Given the description of an element on the screen output the (x, y) to click on. 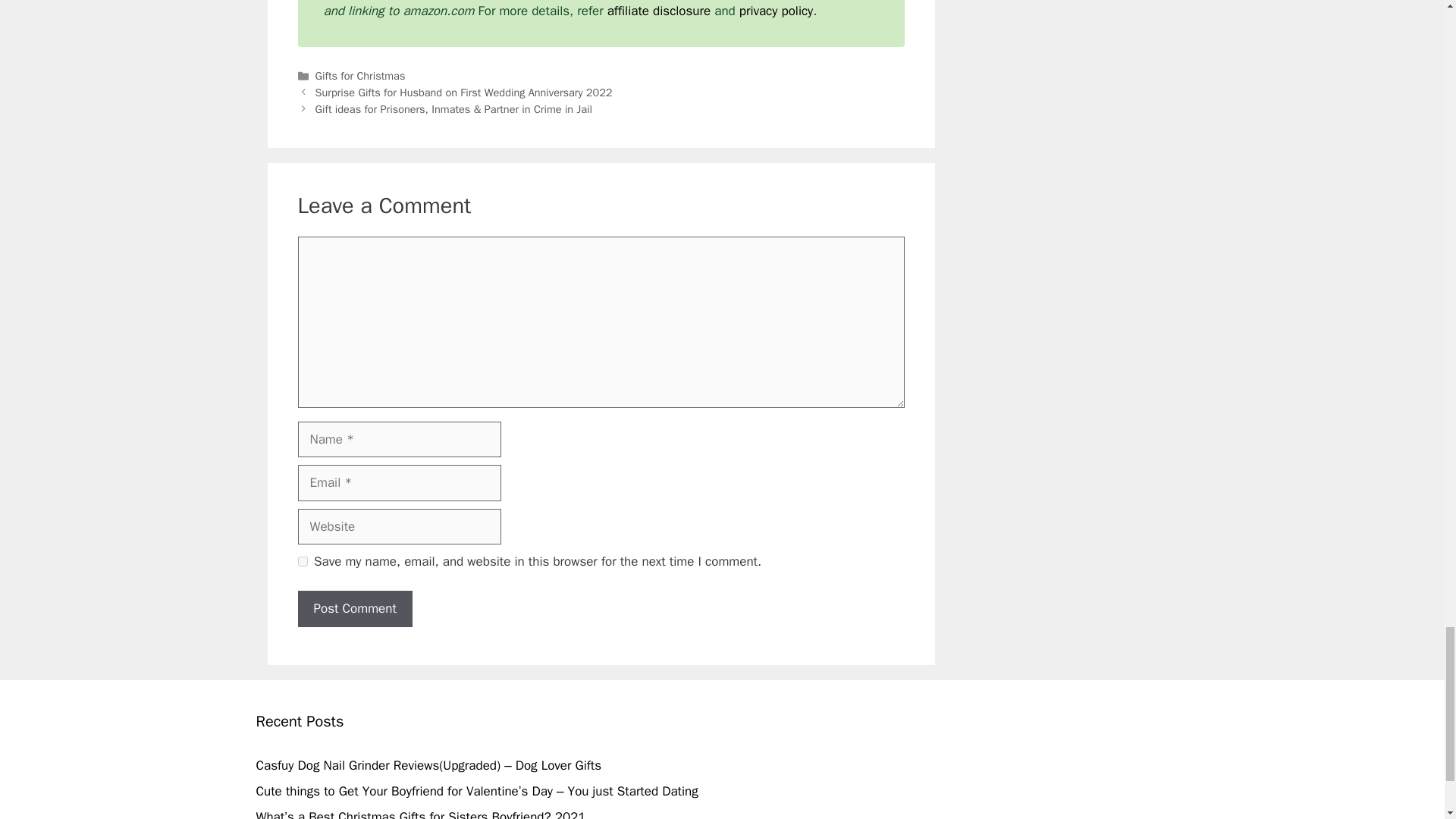
Surprise Gifts for Husband on First Wedding Anniversary 2022 (463, 92)
yes (302, 561)
Post Comment (354, 608)
privacy policy (775, 10)
Post Comment (354, 608)
affiliate disclosure (658, 10)
Gifts for Christmas (360, 75)
